Given the description of an element on the screen output the (x, y) to click on. 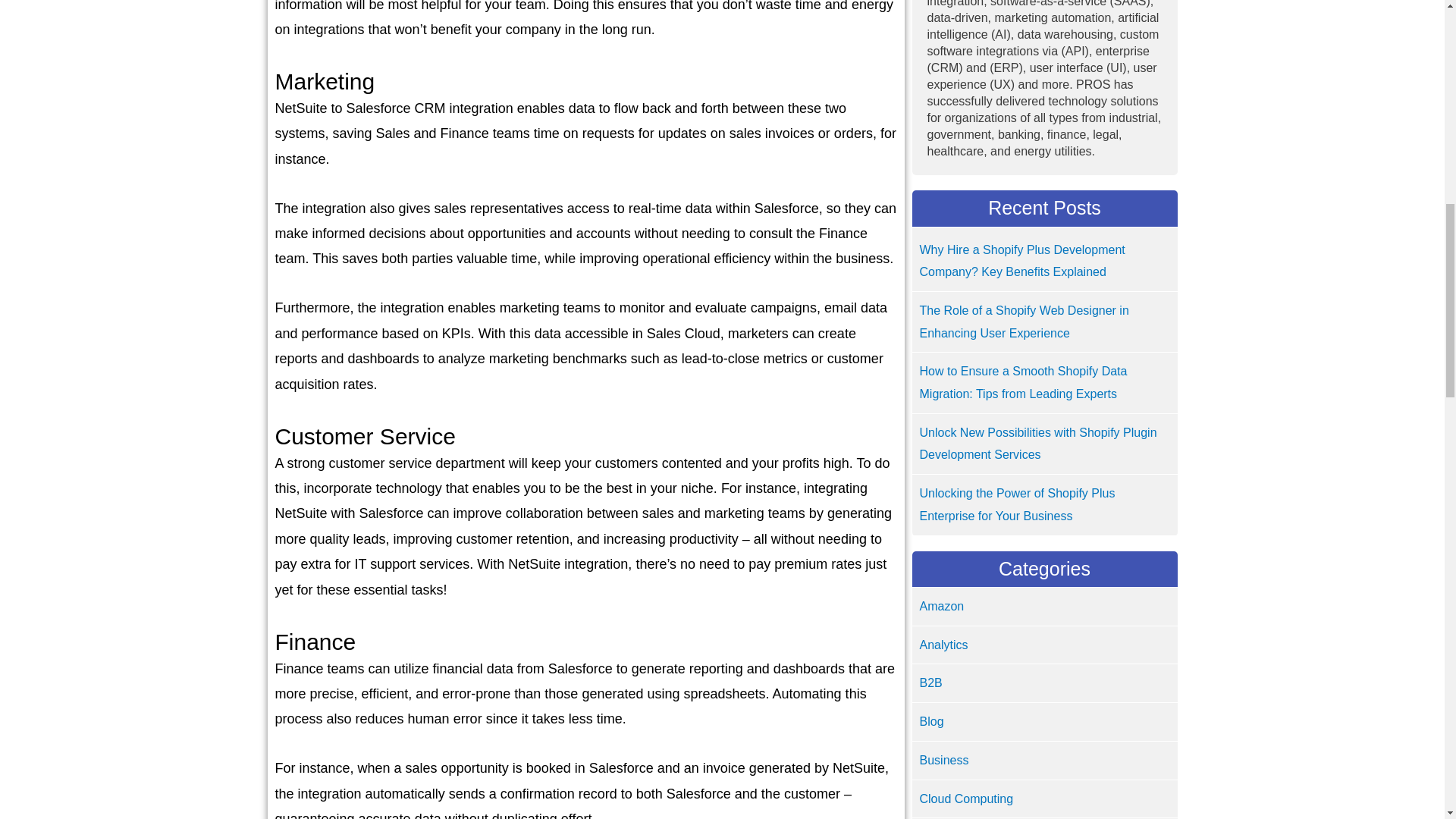
Analytics (943, 644)
B2B (930, 682)
Blog (930, 721)
Amazon (940, 605)
Business (943, 759)
